Given the description of an element on the screen output the (x, y) to click on. 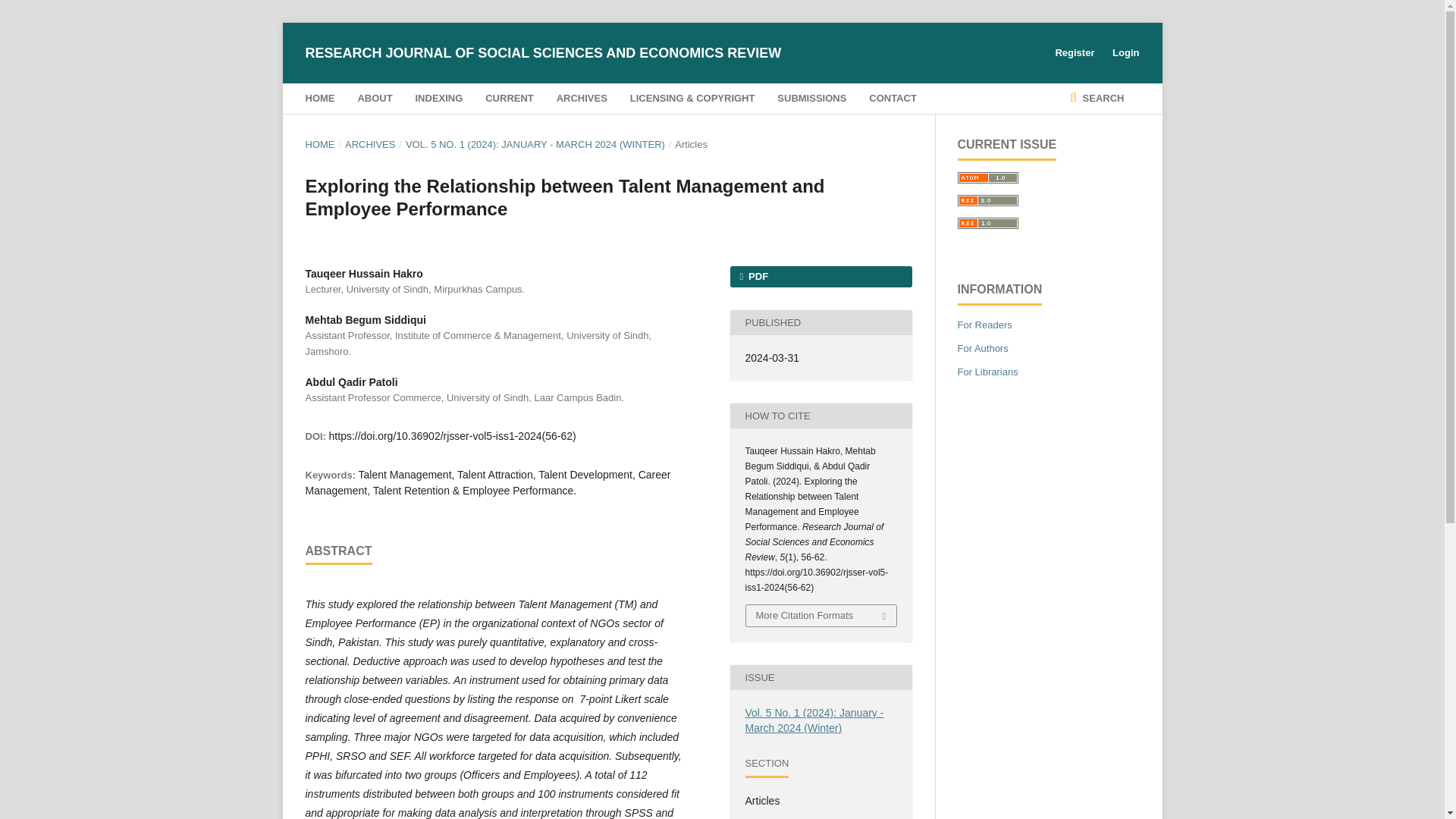
ARCHIVES (369, 144)
ARCHIVES (581, 98)
PDF (820, 276)
ABOUT (373, 98)
SUBMISSIONS (811, 98)
Login (1121, 52)
INDEXING (438, 98)
Register (1074, 52)
More Citation Formats (820, 615)
HOME (319, 98)
CURRENT (509, 98)
SEARCH (1096, 98)
CONTACT (893, 98)
HOME (319, 144)
RESEARCH JOURNAL OF SOCIAL SCIENCES AND ECONOMICS REVIEW (542, 53)
